Given the description of an element on the screen output the (x, y) to click on. 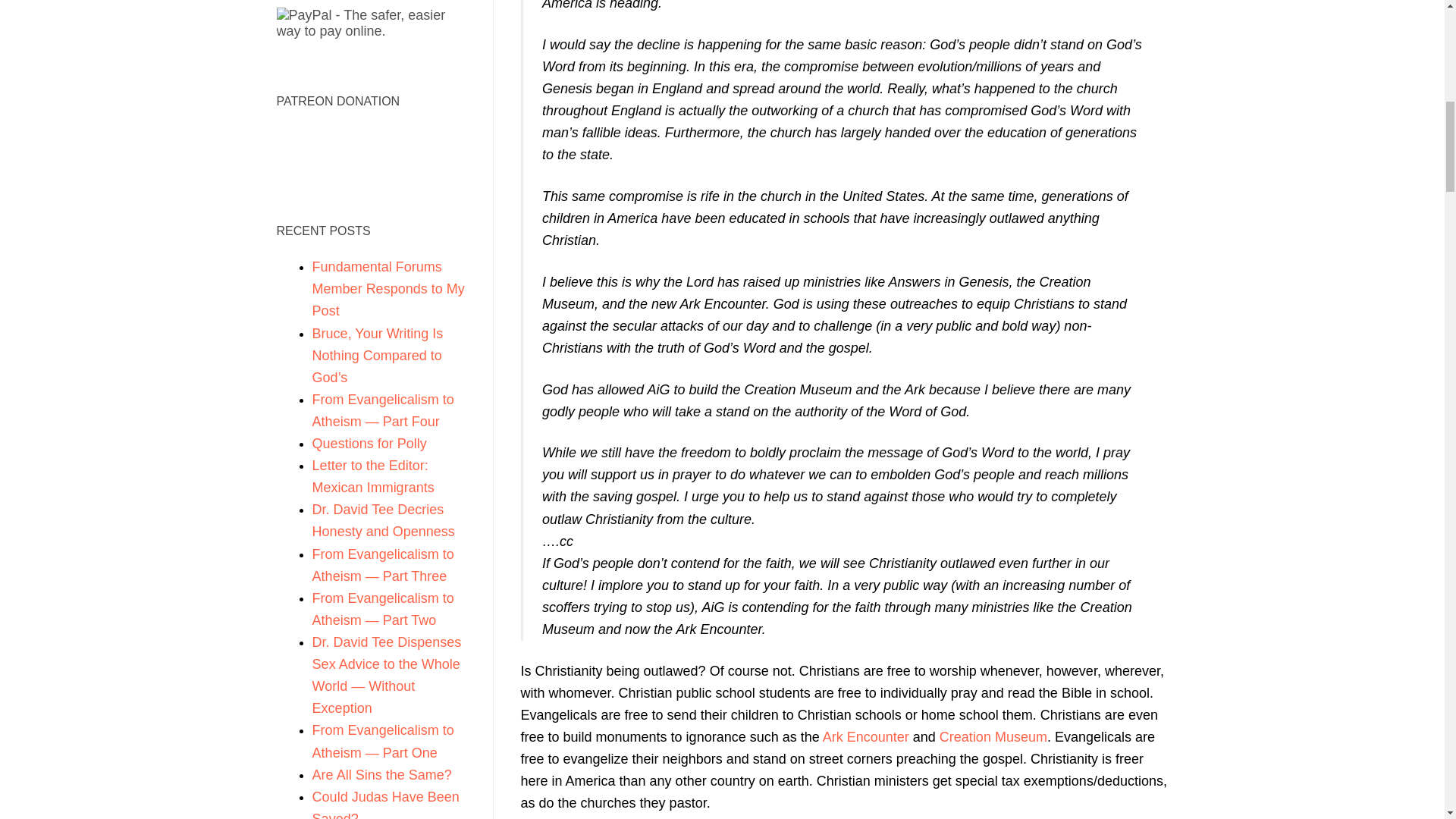
patreon (367, 156)
Ark Encounter (865, 736)
